Given the description of an element on the screen output the (x, y) to click on. 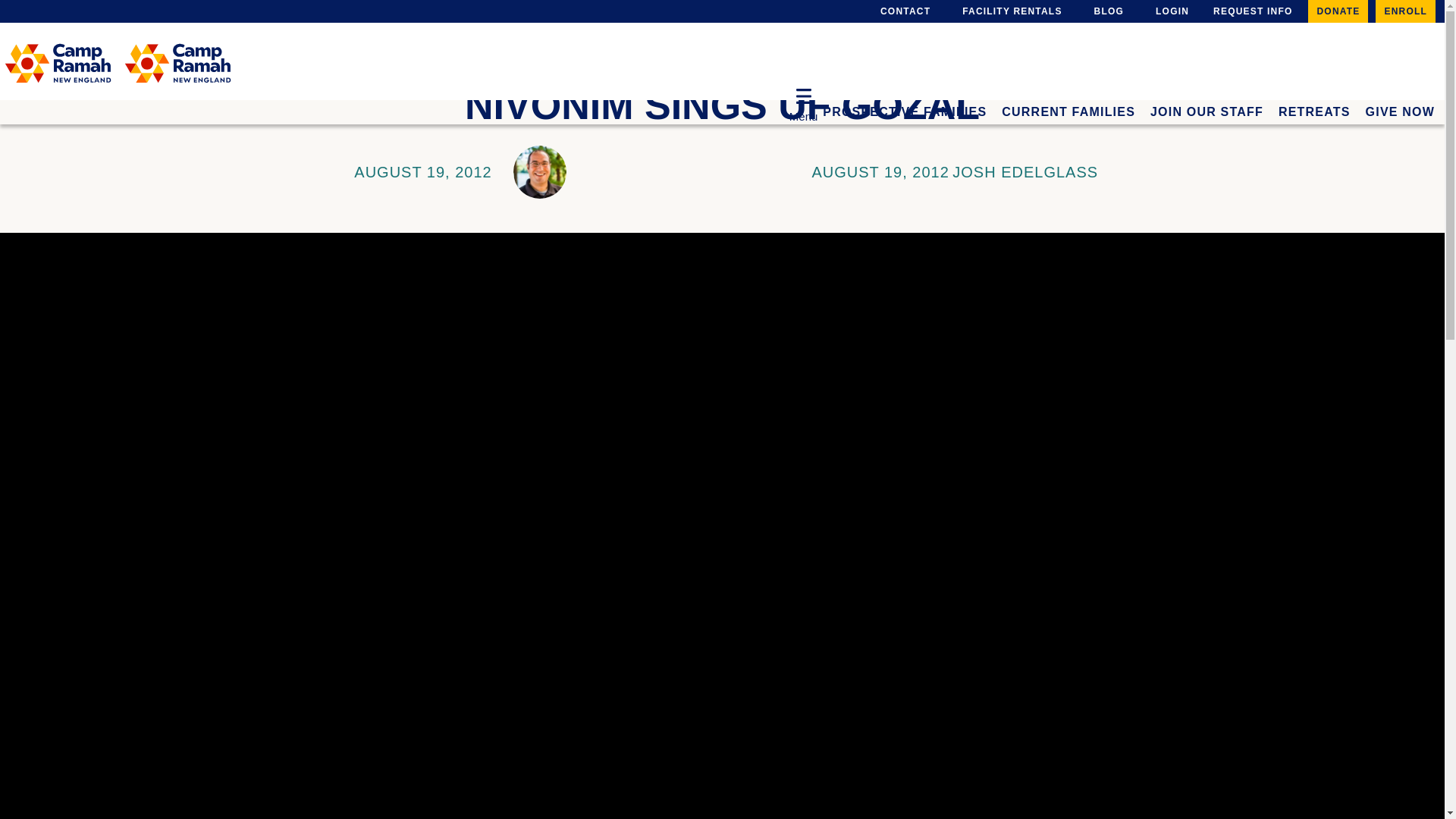
ENROLL (1405, 11)
Posts by Josh Edelglass (1024, 171)
JOIN OUR STAFF (1206, 106)
PROSPECTIVE FAMILIES (904, 106)
BLOG (1105, 11)
CURRENT FAMILIES (1068, 106)
FACILITY RENTALS (1008, 11)
DONATE (1337, 11)
CONTACT (901, 11)
REQUEST INFO (1252, 11)
